Given the description of an element on the screen output the (x, y) to click on. 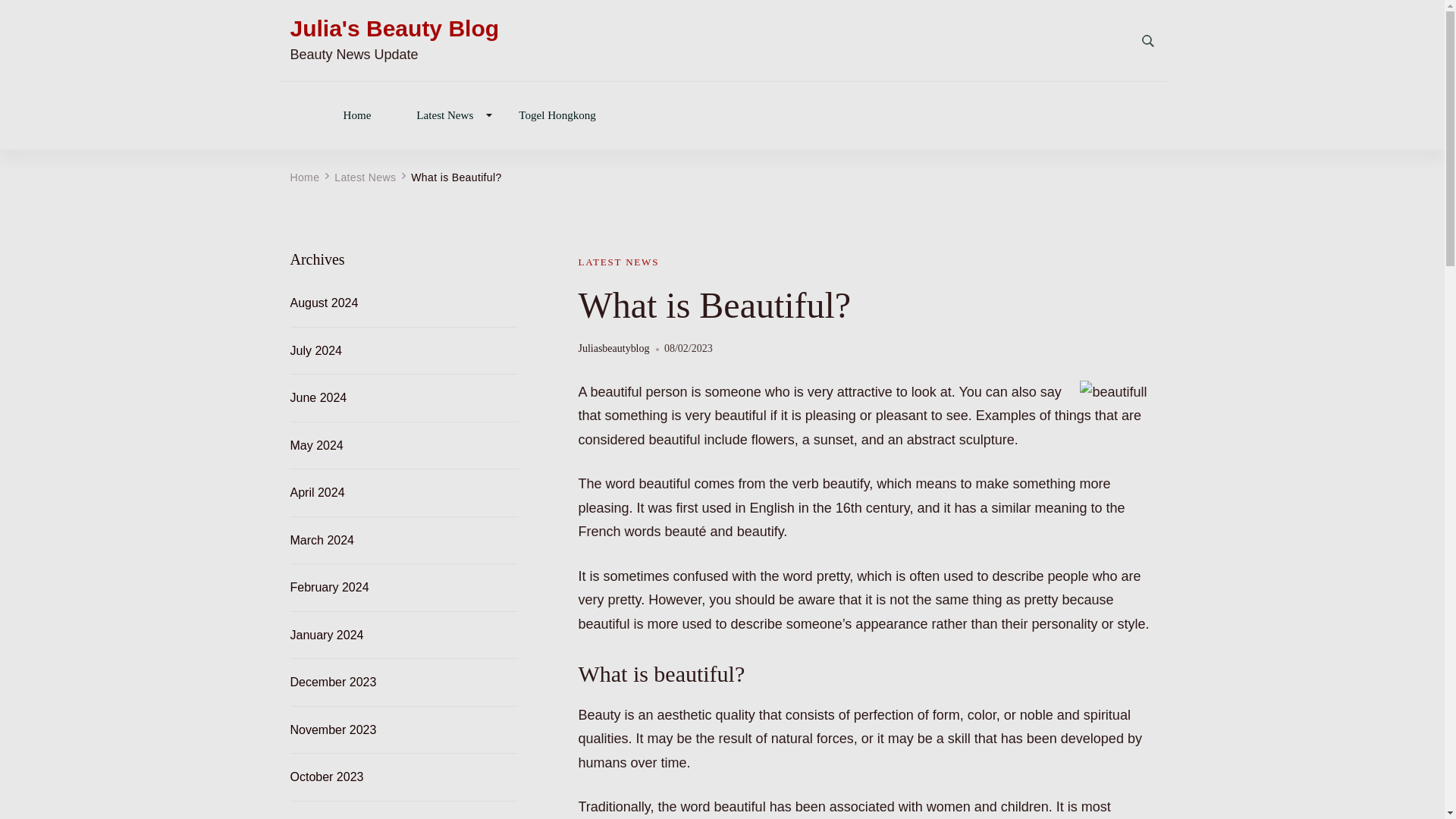
Togel Hongkong (556, 114)
LATEST NEWS (618, 262)
Julia's Beauty Blog (394, 28)
Home (356, 114)
Juliasbeautyblog (613, 348)
What is Beautiful? (455, 177)
Latest News (444, 114)
Home (303, 177)
Latest News (365, 177)
